Given the description of an element on the screen output the (x, y) to click on. 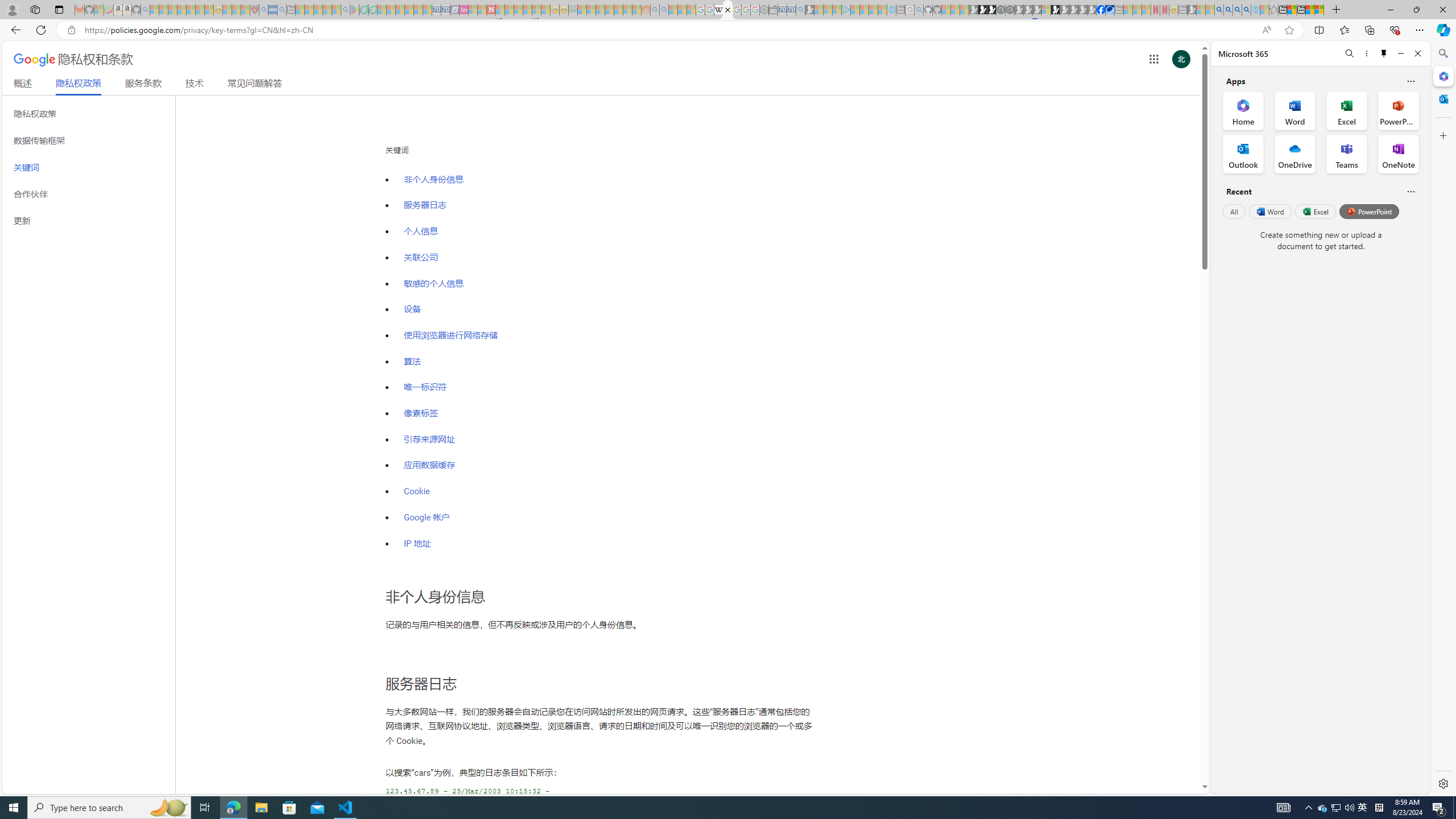
Bing AI - Search (1218, 9)
